Given the description of an element on the screen output the (x, y) to click on. 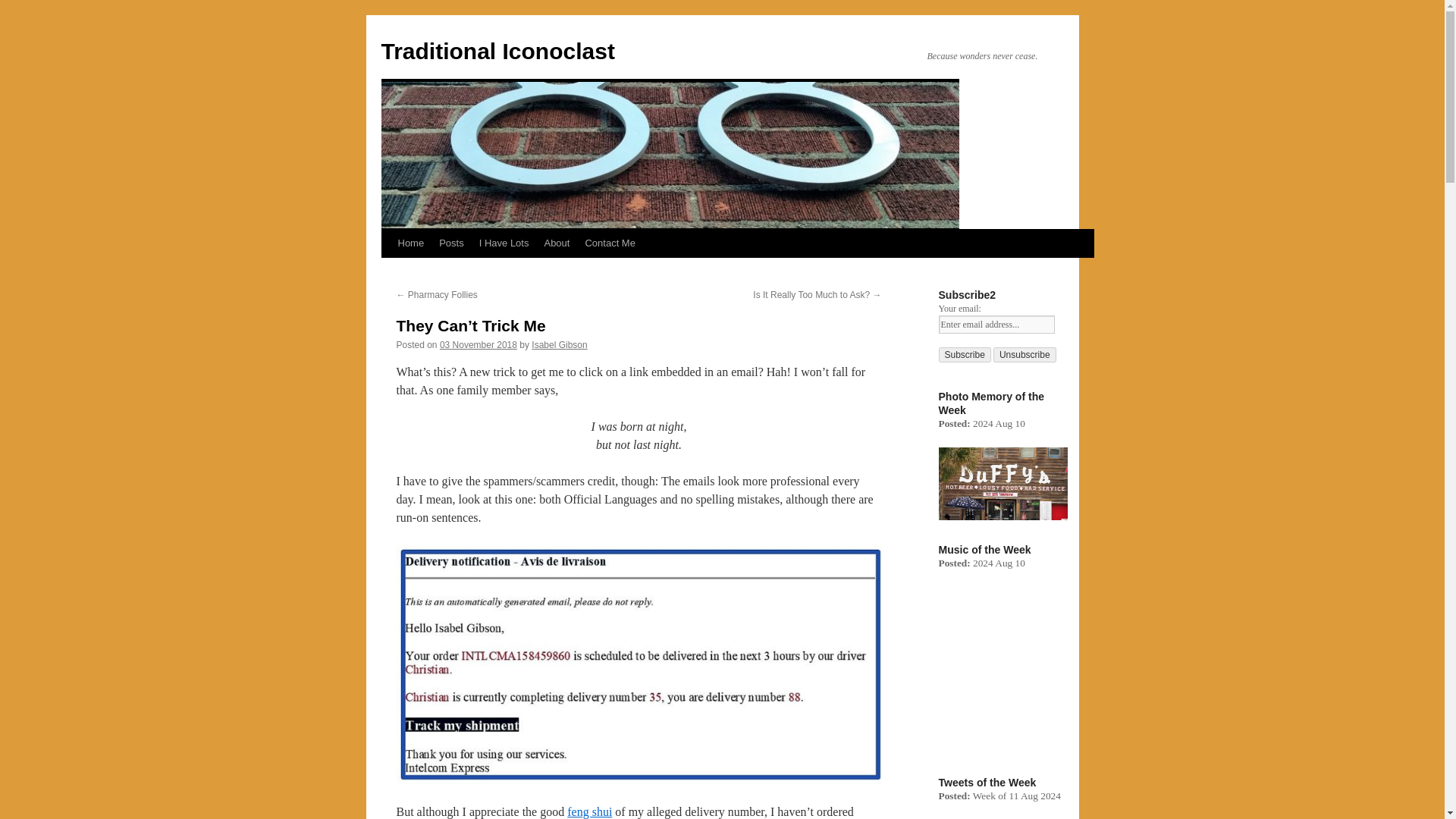
Contact Me (609, 243)
Subscribe (965, 354)
I Have Lots (504, 243)
Unsubscribe (1024, 354)
Home (410, 243)
03 November 2018 (477, 344)
View all posts by Isabel Gibson (558, 344)
About (555, 243)
Enter email address... (996, 324)
Posts (450, 243)
